Given the description of an element on the screen output the (x, y) to click on. 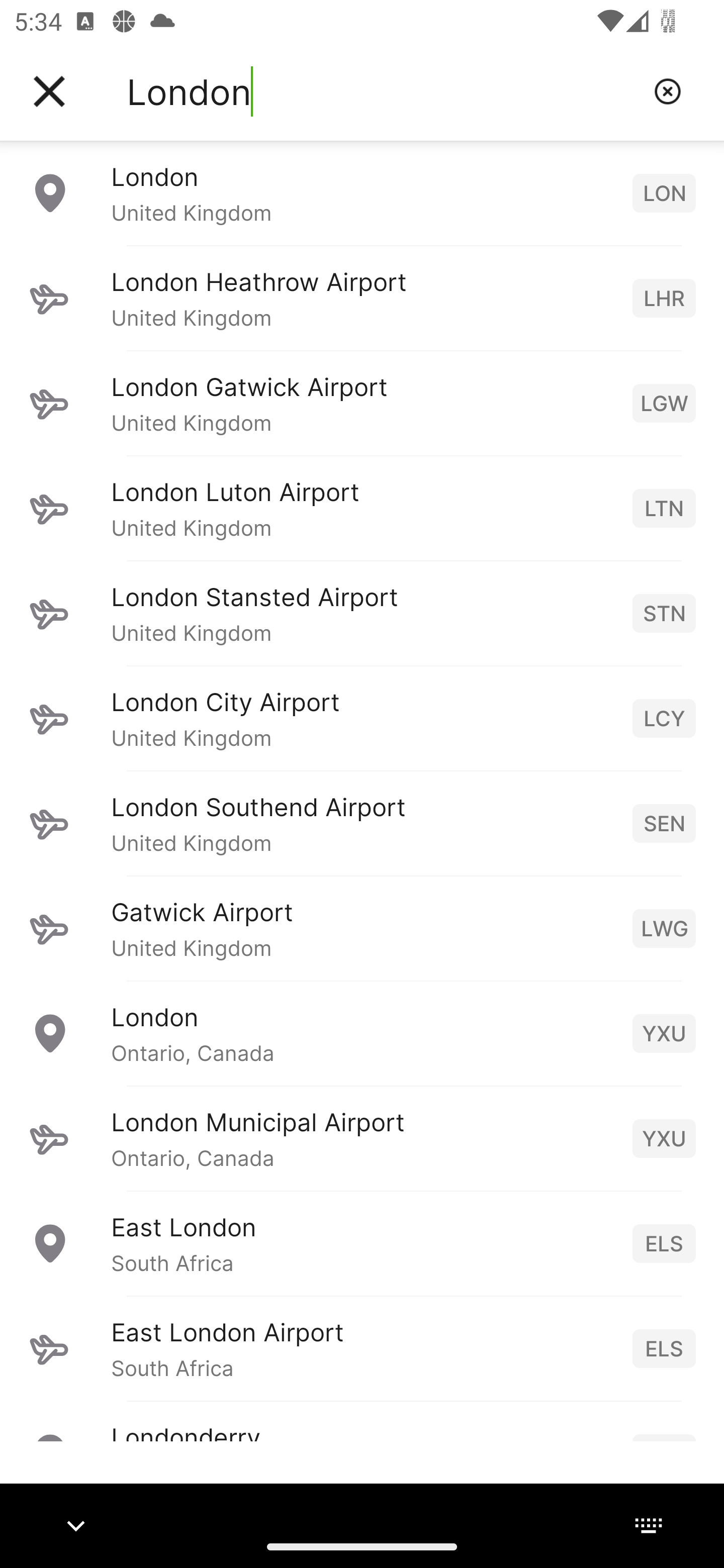
London (382, 91)
London United Kingdom LON (362, 192)
London Heathrow Airport United Kingdom LHR (362, 297)
London Gatwick Airport United Kingdom LGW (362, 402)
London Luton Airport United Kingdom LTN (362, 507)
London Stansted Airport United Kingdom STN (362, 612)
London City Airport United Kingdom LCY (362, 717)
London Southend Airport United Kingdom SEN (362, 822)
Gatwick Airport United Kingdom LWG (362, 928)
London Ontario, Canada YXU (362, 1033)
London Municipal Airport Ontario, Canada YXU (362, 1138)
East London South Africa ELS (362, 1243)
East London Airport South Africa ELS (362, 1348)
